Given the description of an element on the screen output the (x, y) to click on. 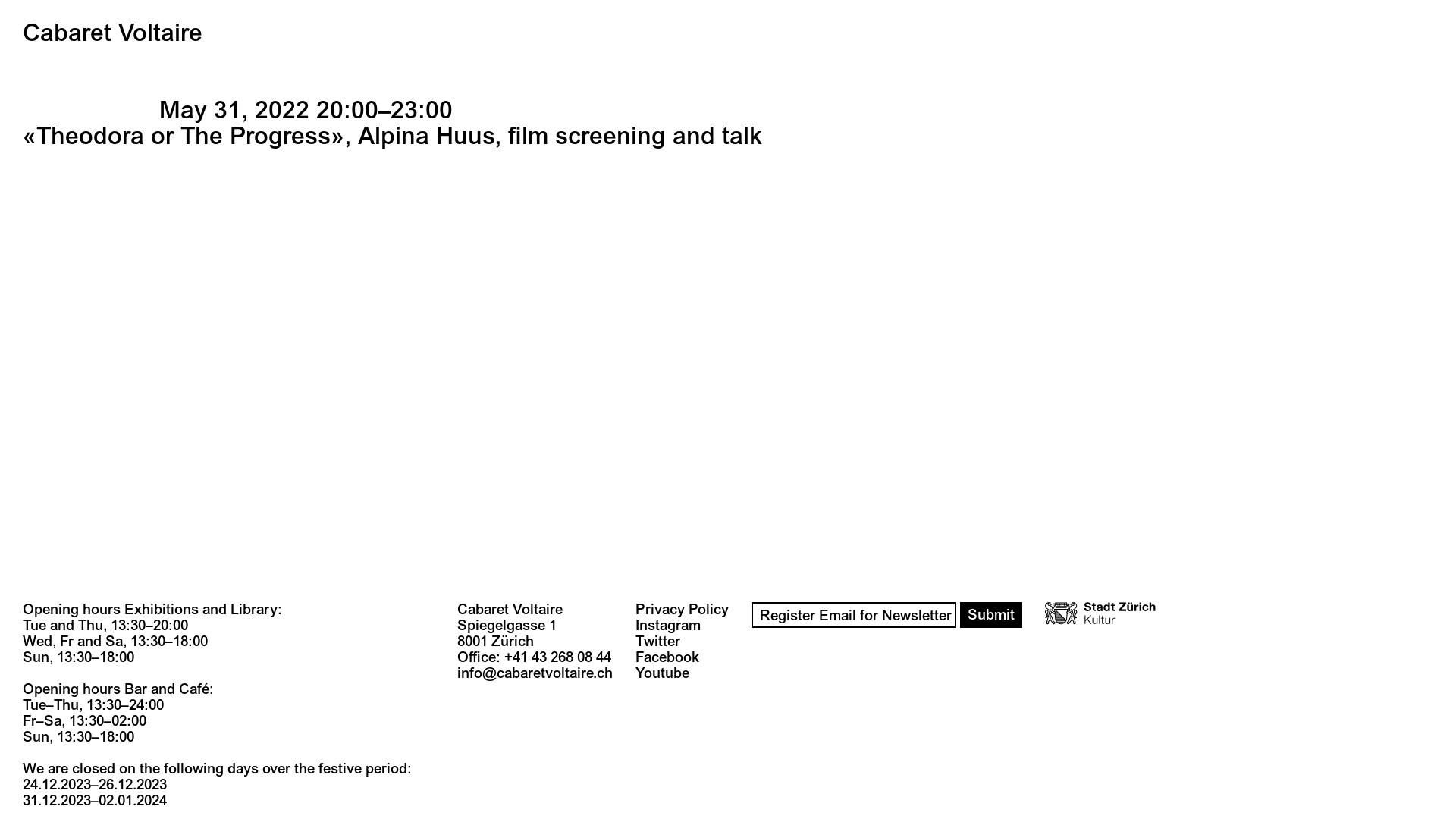
Youtube Element type: text (662, 673)
Submit Element type: text (991, 614)
info@cabaretvoltaire.ch Element type: text (534, 681)
Twitter Element type: text (657, 641)
Privacy Policy Element type: text (681, 609)
Instagram Element type: text (667, 624)
Facebook Element type: text (667, 656)
Cabaret Voltaire Element type: text (112, 33)
